Given the description of an element on the screen output the (x, y) to click on. 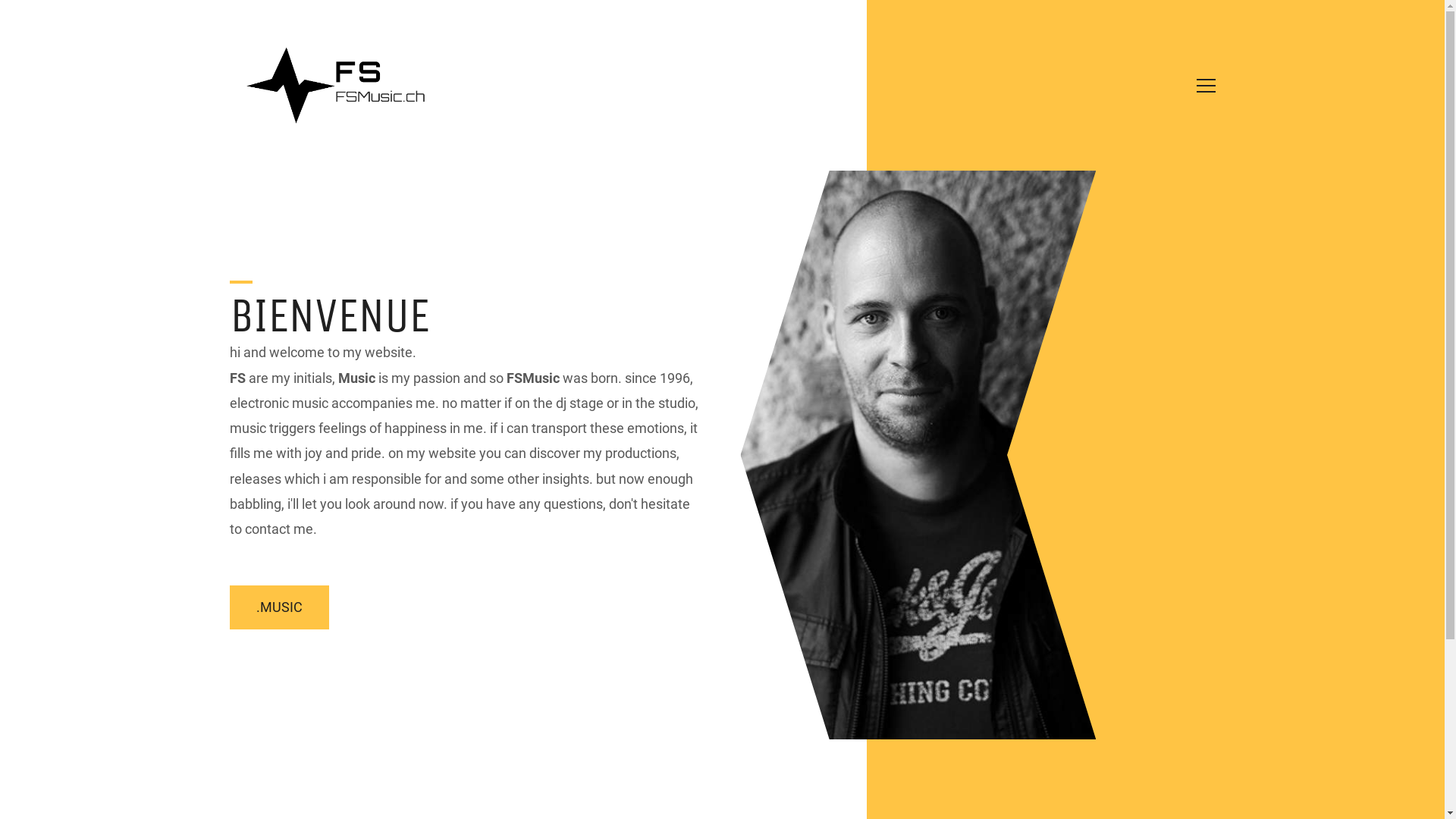
.MUSIC Element type: text (278, 607)
